Given the description of an element on the screen output the (x, y) to click on. 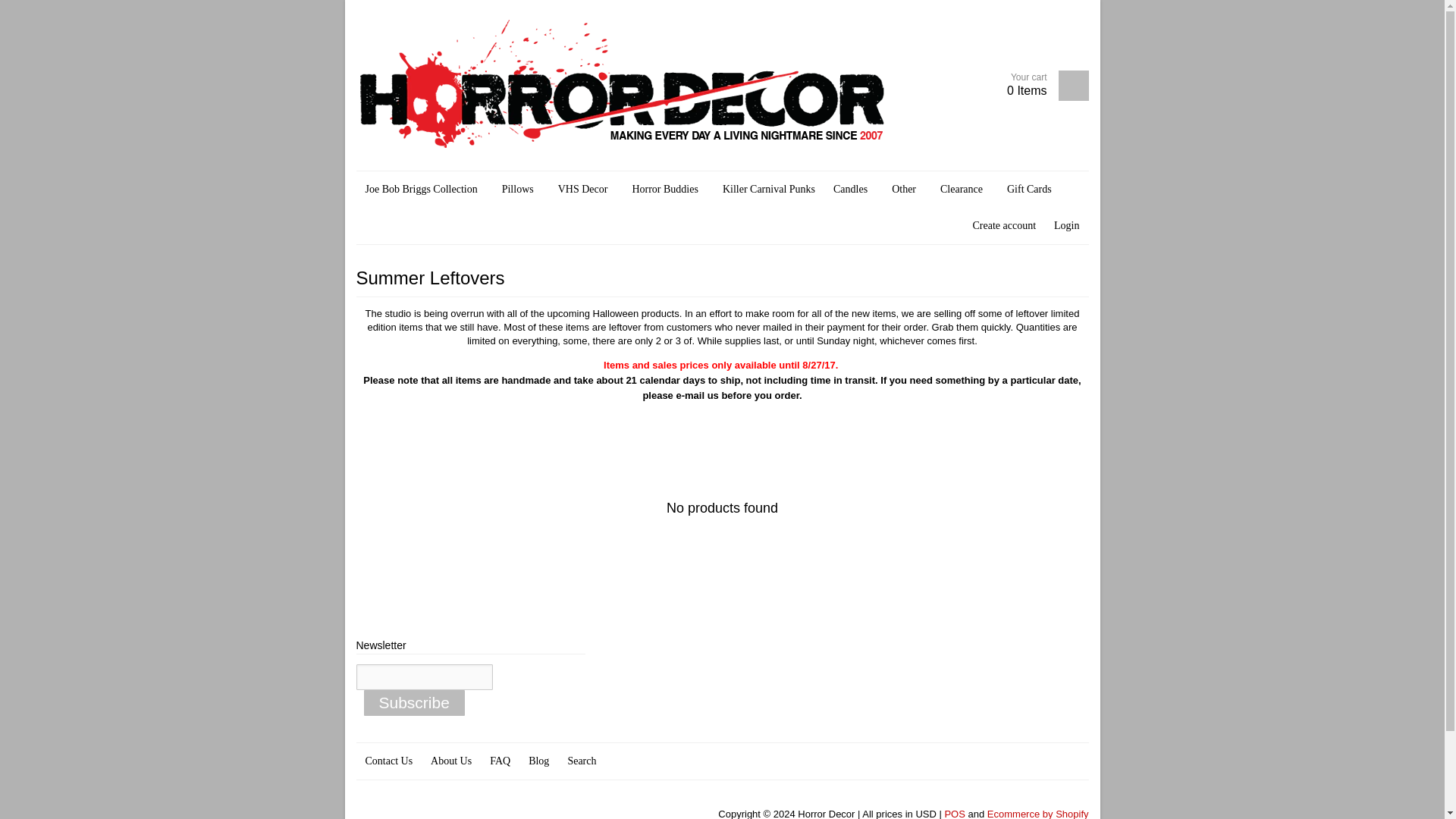
Clearance (964, 189)
Horror Decor news (507, 812)
Killer Carnival Punks (768, 189)
VHS Decor (585, 189)
Pillows (520, 189)
Horror Decor on YouTube (424, 812)
Joe Bob Briggs Collection (424, 189)
Horror Decor on Instagram (451, 812)
Horror Decor on Facebook (395, 812)
Candles (853, 189)
